Given the description of an element on the screen output the (x, y) to click on. 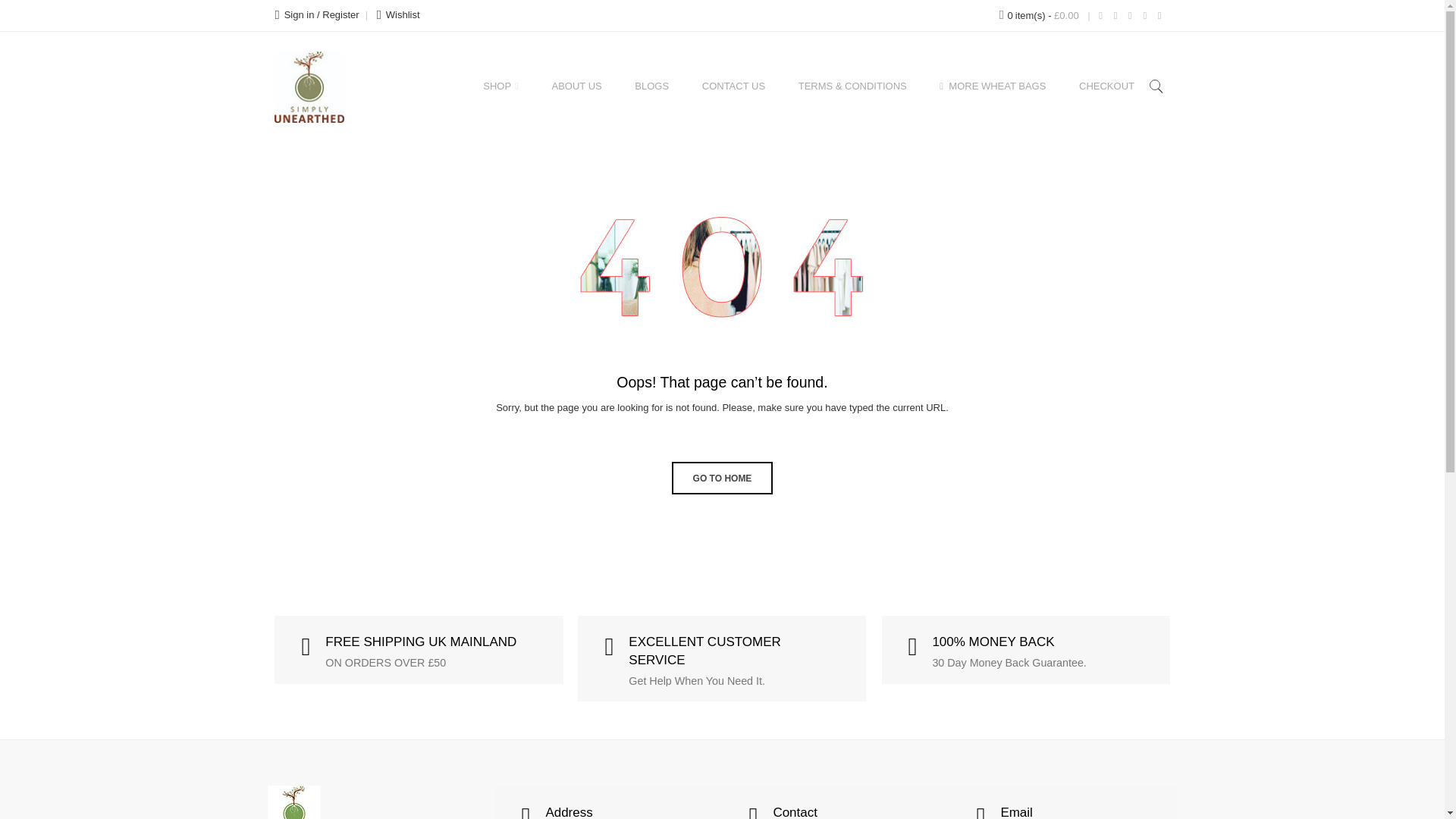
Login (316, 14)
Simply Unearthed -  (350, 86)
Wishlist (398, 14)
Wishlist (398, 14)
SHOP (500, 86)
